Given the description of an element on the screen output the (x, y) to click on. 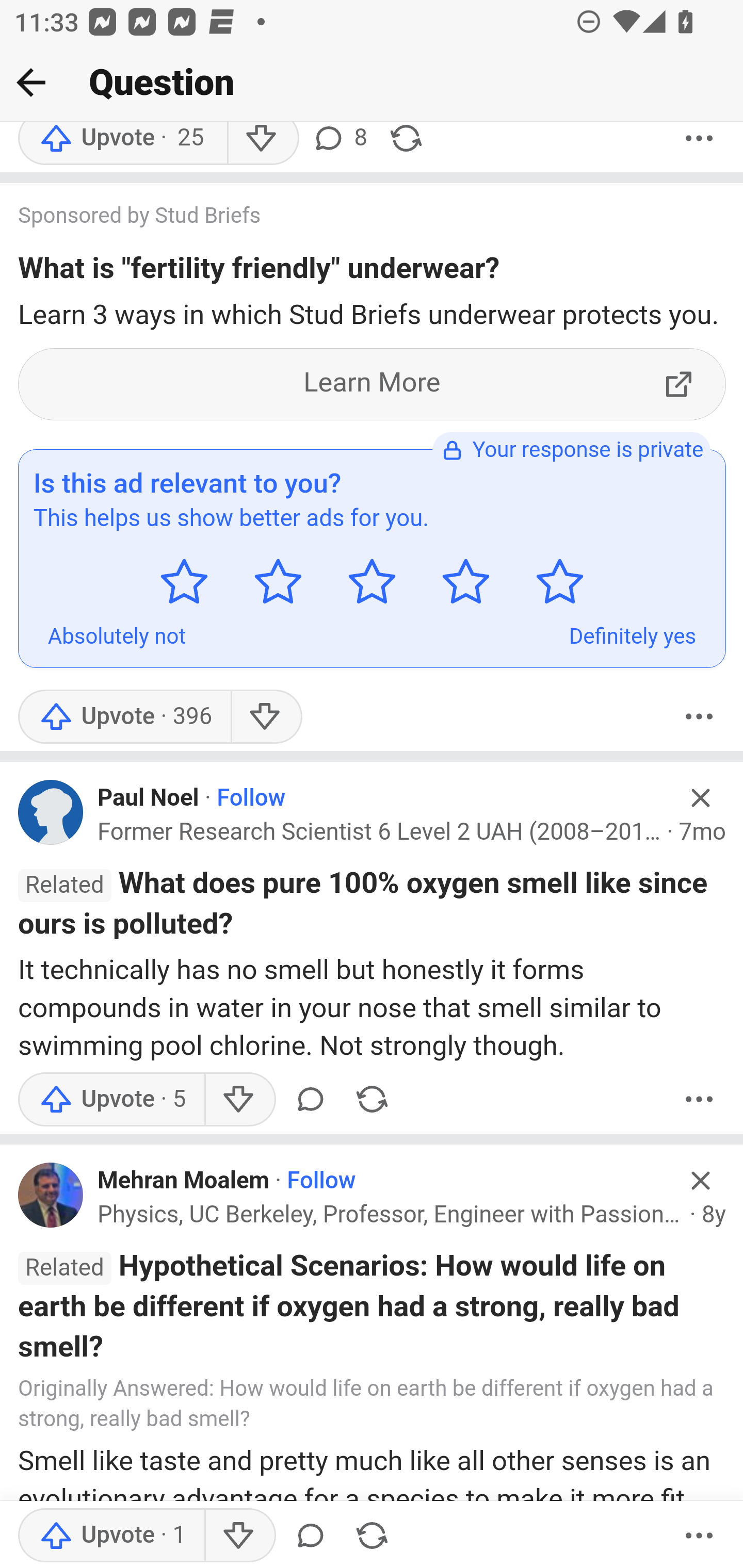
Back (30, 82)
Sponsored by Stud Briefs (352, 217)
What is "fertility friendly" underwear? (258, 271)
Learn More ExternalLink (372, 383)
Upvote (124, 716)
Downvote (266, 716)
More (699, 716)
Hide (700, 797)
Profile photo for Paul Noel (50, 812)
Paul Noel (148, 799)
Follow (251, 799)
Hide (700, 1179)
Profile photo for Mehran Moalem (50, 1194)
Mehran Moalem (184, 1182)
Follow (321, 1182)
Upvote (111, 1535)
Downvote (238, 1535)
Comment (310, 1535)
Share (372, 1535)
More (699, 1535)
